Given the description of an element on the screen output the (x, y) to click on. 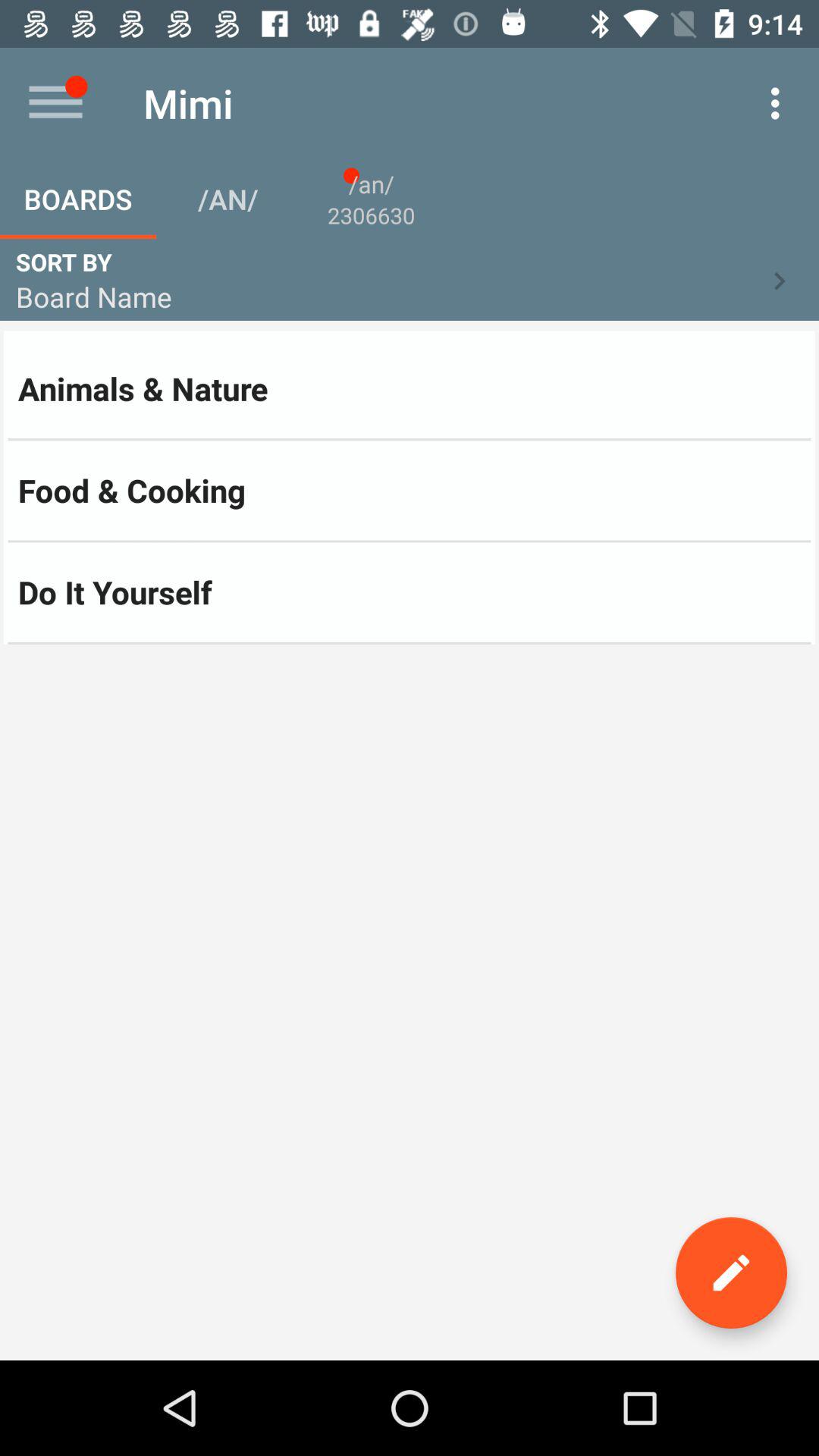
choose the icon to the right of mimi icon (779, 103)
